Given the description of an element on the screen output the (x, y) to click on. 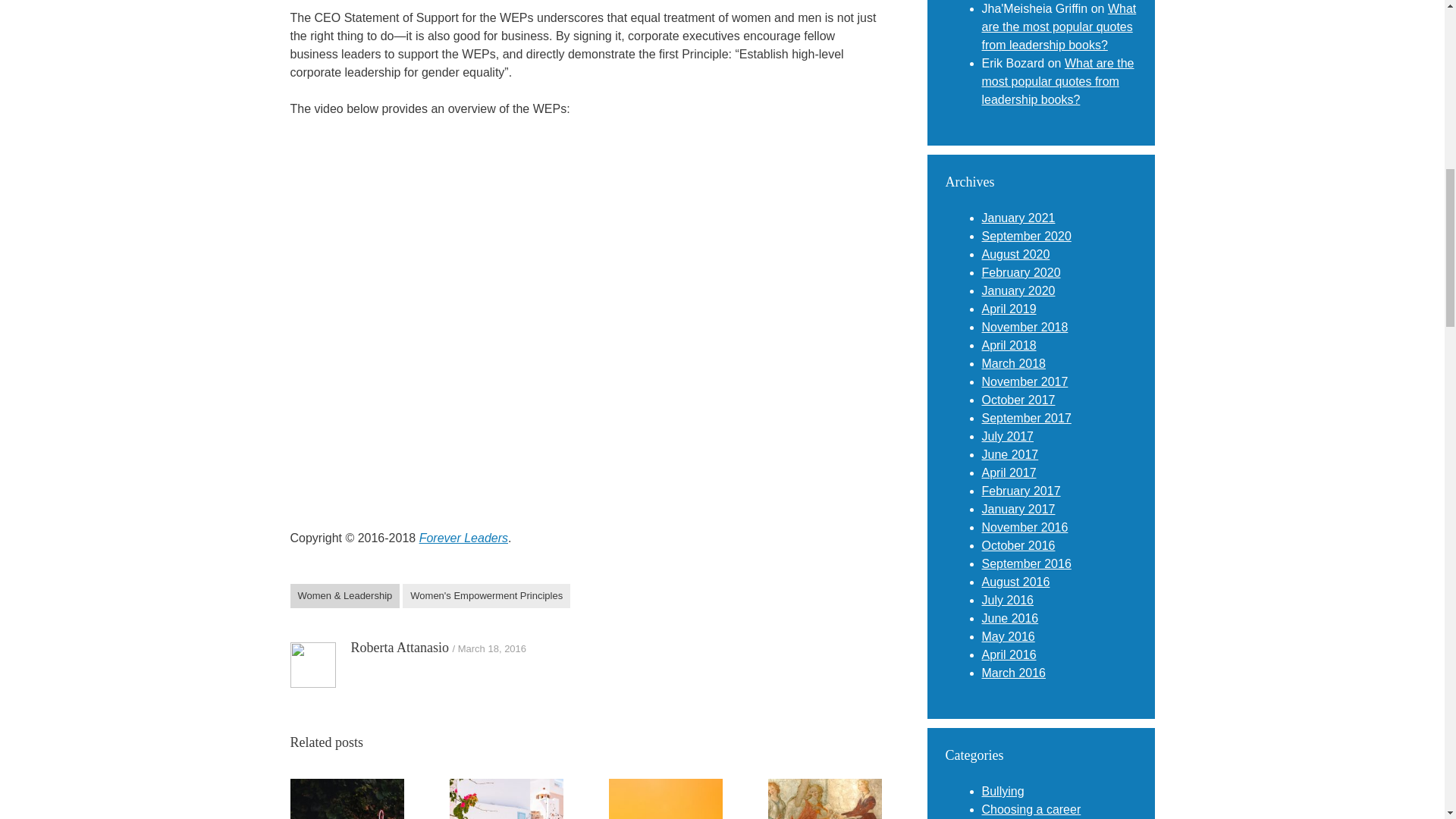
Forever Leaders (463, 537)
Women's Empowerment Principles (486, 595)
Roberta Attanasio (399, 647)
